Given the description of an element on the screen output the (x, y) to click on. 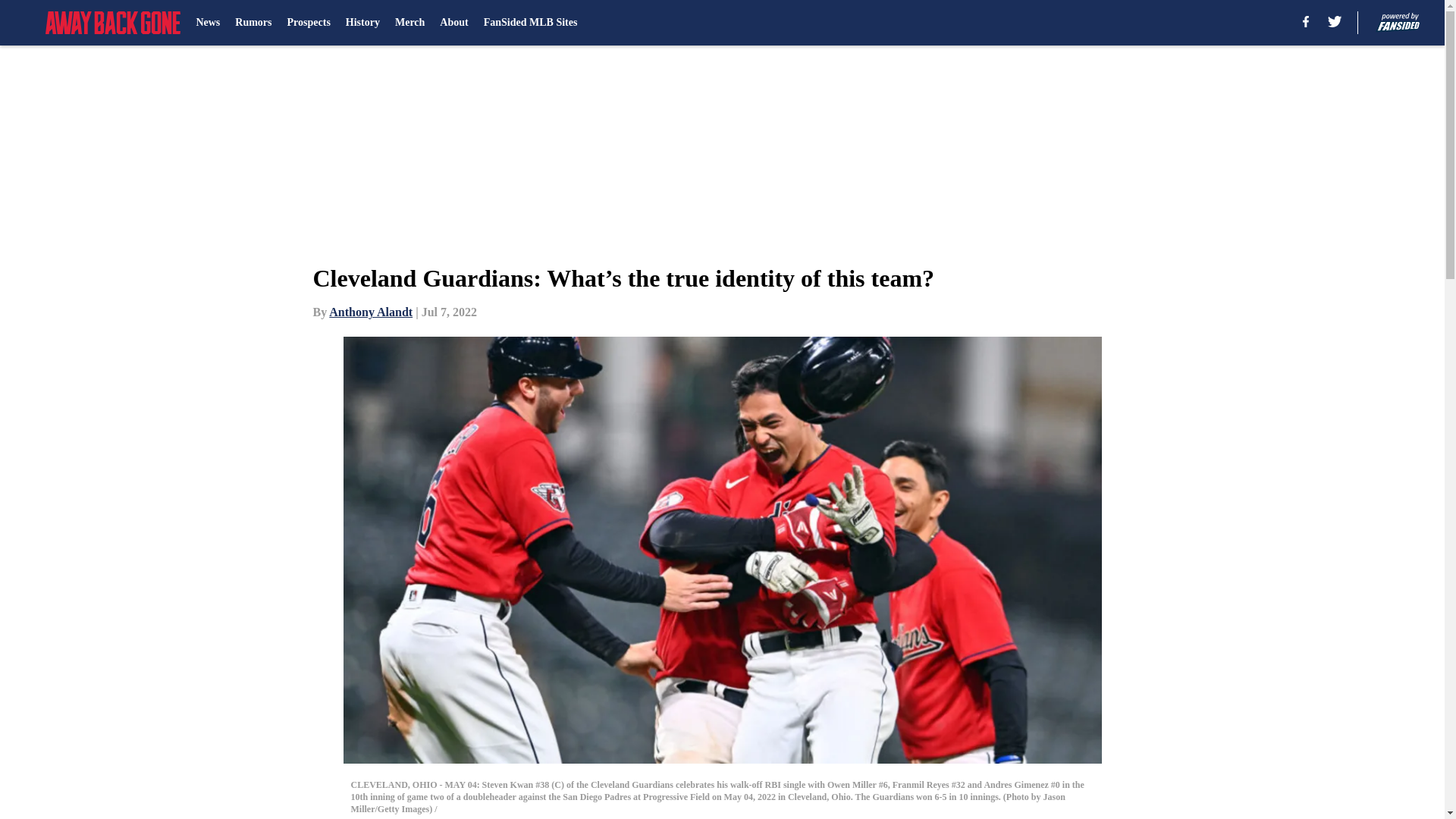
Rumors (252, 22)
Merch (409, 22)
FanSided MLB Sites (530, 22)
News (207, 22)
History (363, 22)
Prospects (308, 22)
About (453, 22)
Anthony Alandt (370, 311)
